Given the description of an element on the screen output the (x, y) to click on. 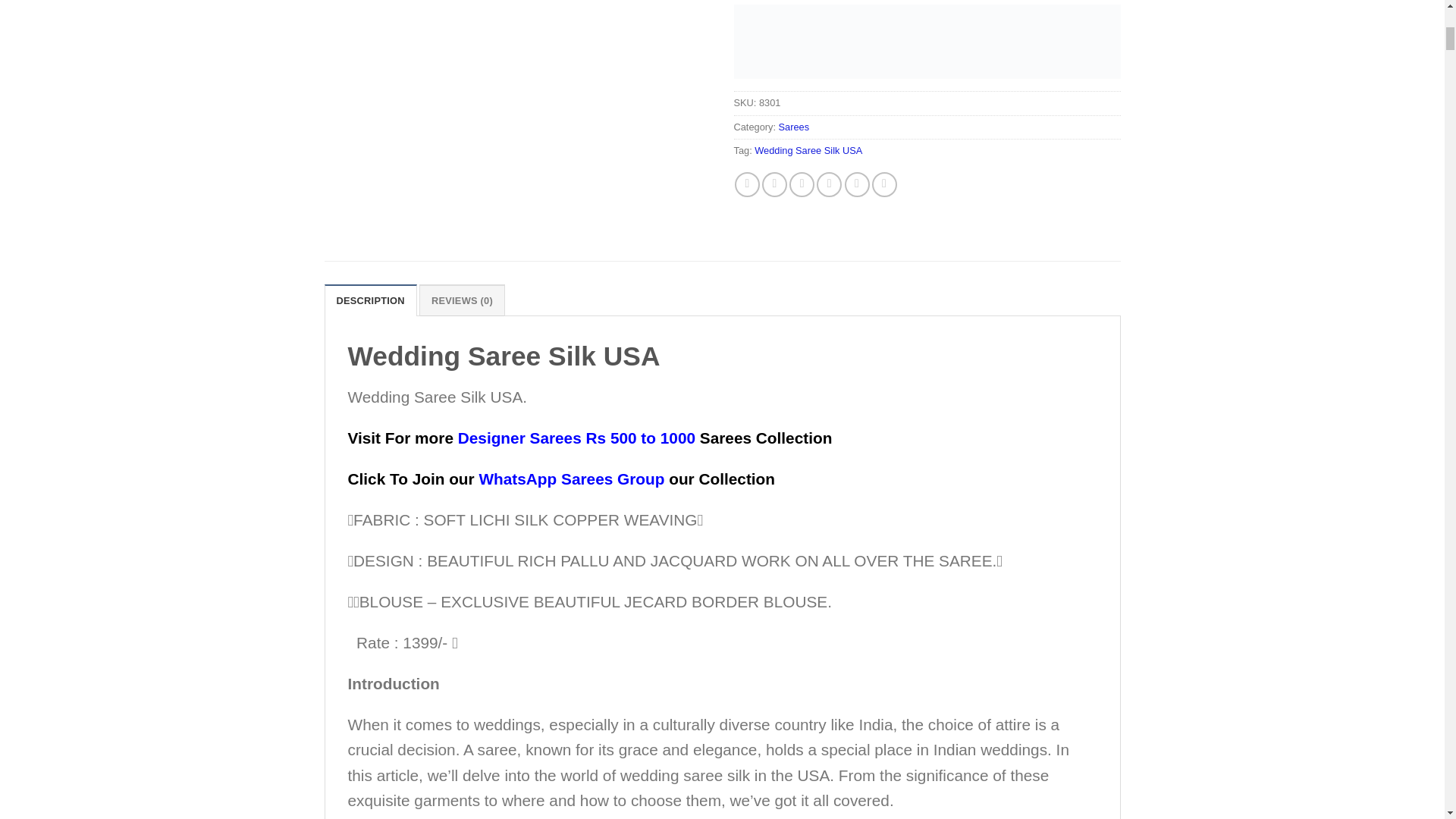
Pin on Pinterest (801, 184)
Share on LinkedIn (828, 184)
Share on Tumblr (856, 184)
Share on Facebook (747, 184)
Share on Twitter (774, 184)
